Given the description of an element on the screen output the (x, y) to click on. 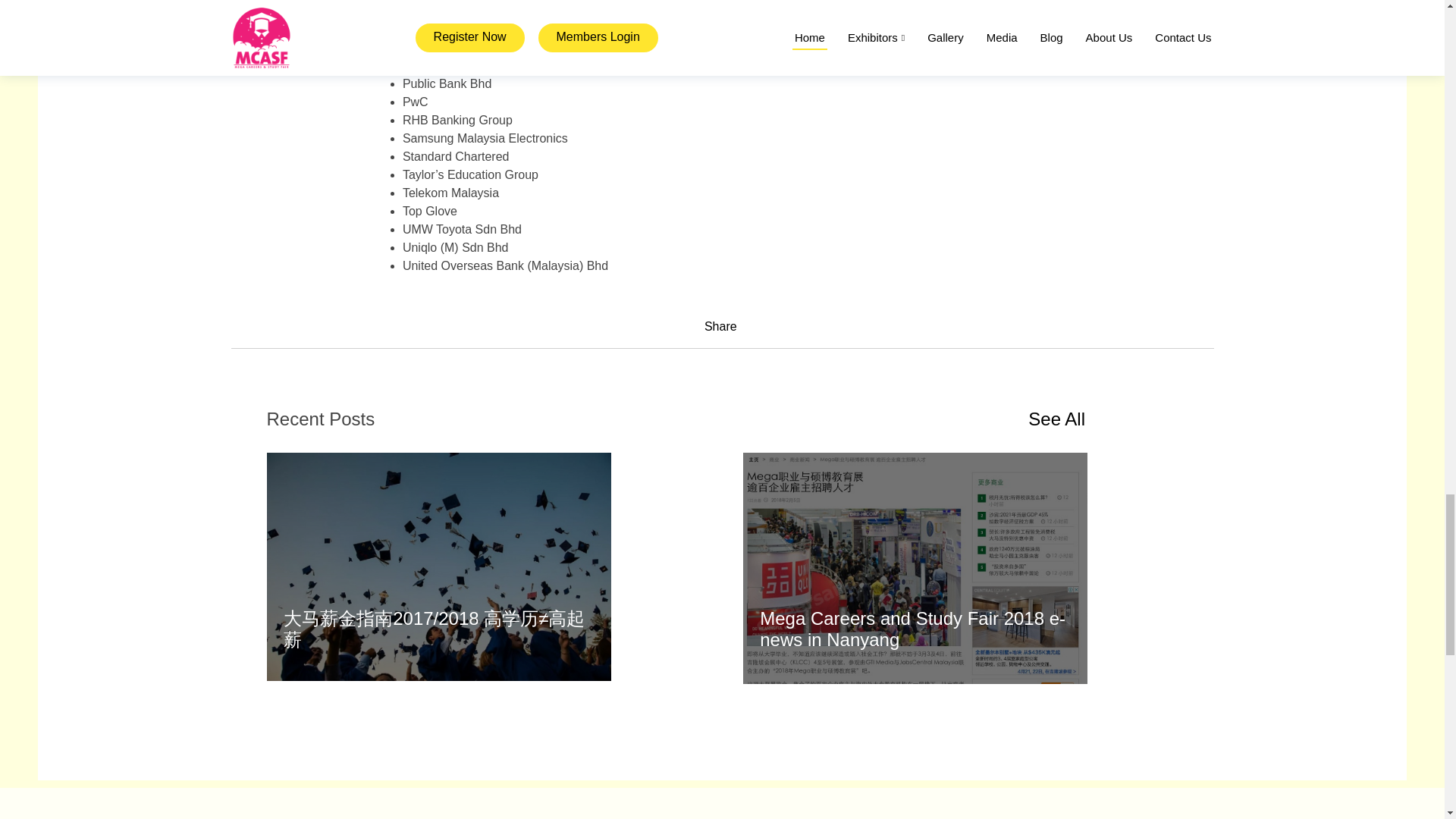
Mega Careers and Study Fair 2018 e-news in Nanyang (912, 629)
Share (720, 326)
See All (1055, 418)
